Given the description of an element on the screen output the (x, y) to click on. 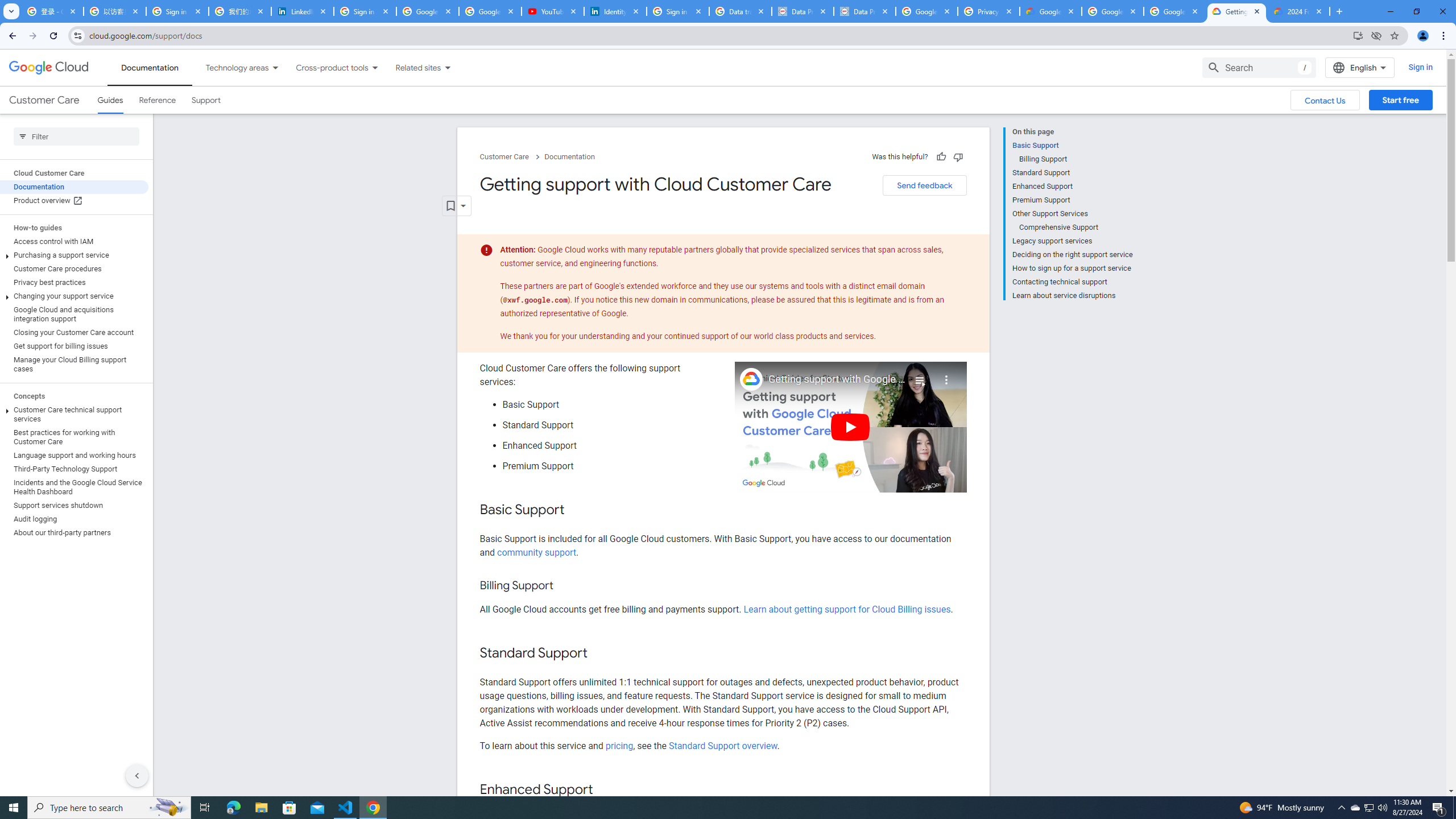
Google Workspace - Specific Terms (1174, 11)
Google Cloud Terms Directory | Google Cloud (1050, 11)
Dropdown menu for Related sites (447, 67)
Access control with IAM (74, 241)
Documentation, selected (149, 67)
Documentation (569, 156)
LinkedIn Privacy Policy (302, 11)
Technology areas (230, 67)
Product overview (74, 200)
English (1359, 67)
